Given the description of an element on the screen output the (x, y) to click on. 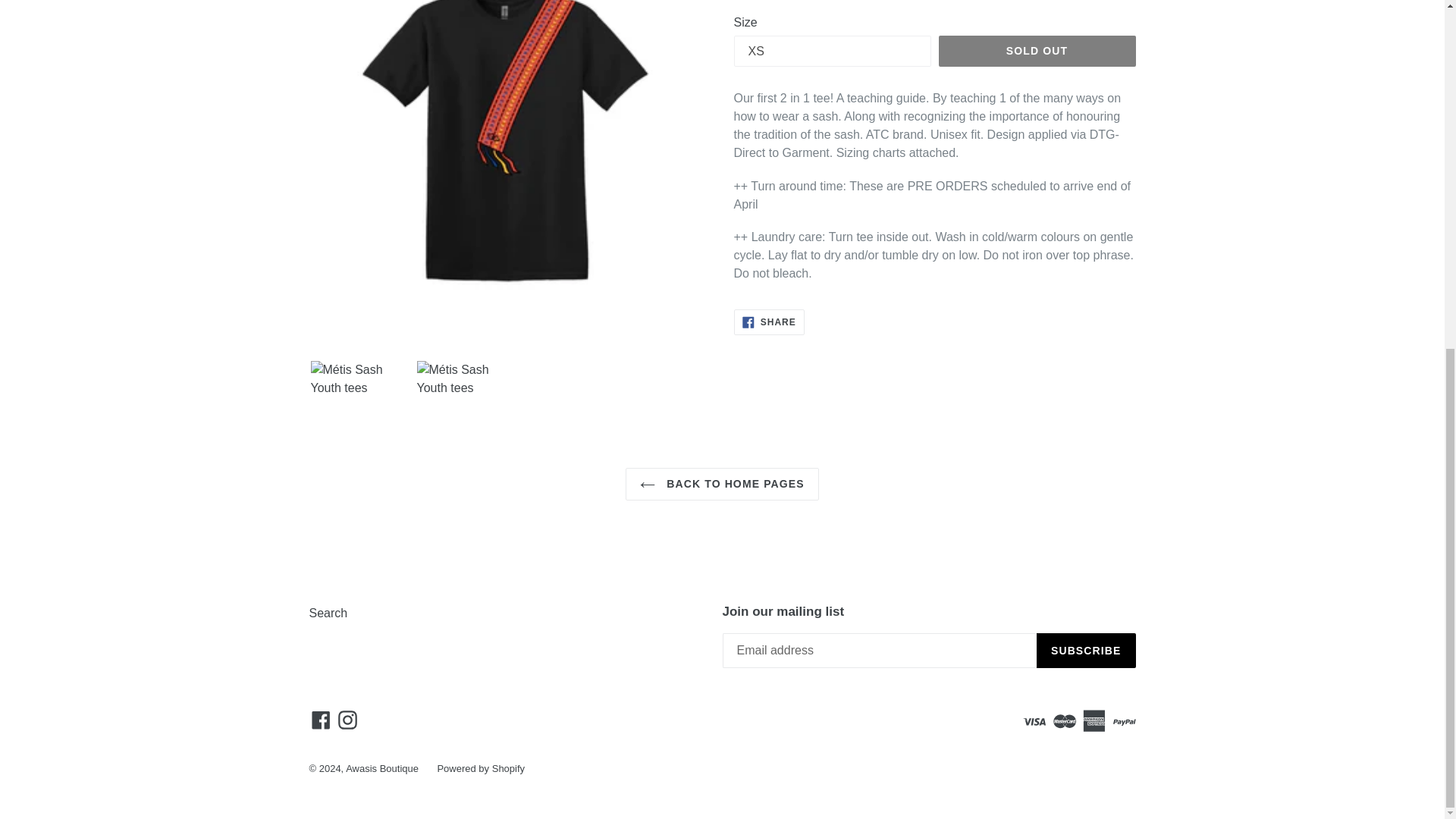
Powered by Shopify (480, 767)
Awasis Boutique on Facebook (320, 719)
Instagram (347, 719)
Share on Facebook (769, 321)
Awasis Boutique (382, 767)
BACK TO HOME PAGES (722, 483)
Awasis Boutique on Instagram (347, 719)
SUBSCRIBE (1085, 650)
SOLD OUT (769, 321)
Search (1037, 51)
Facebook (327, 612)
